Given the description of an element on the screen output the (x, y) to click on. 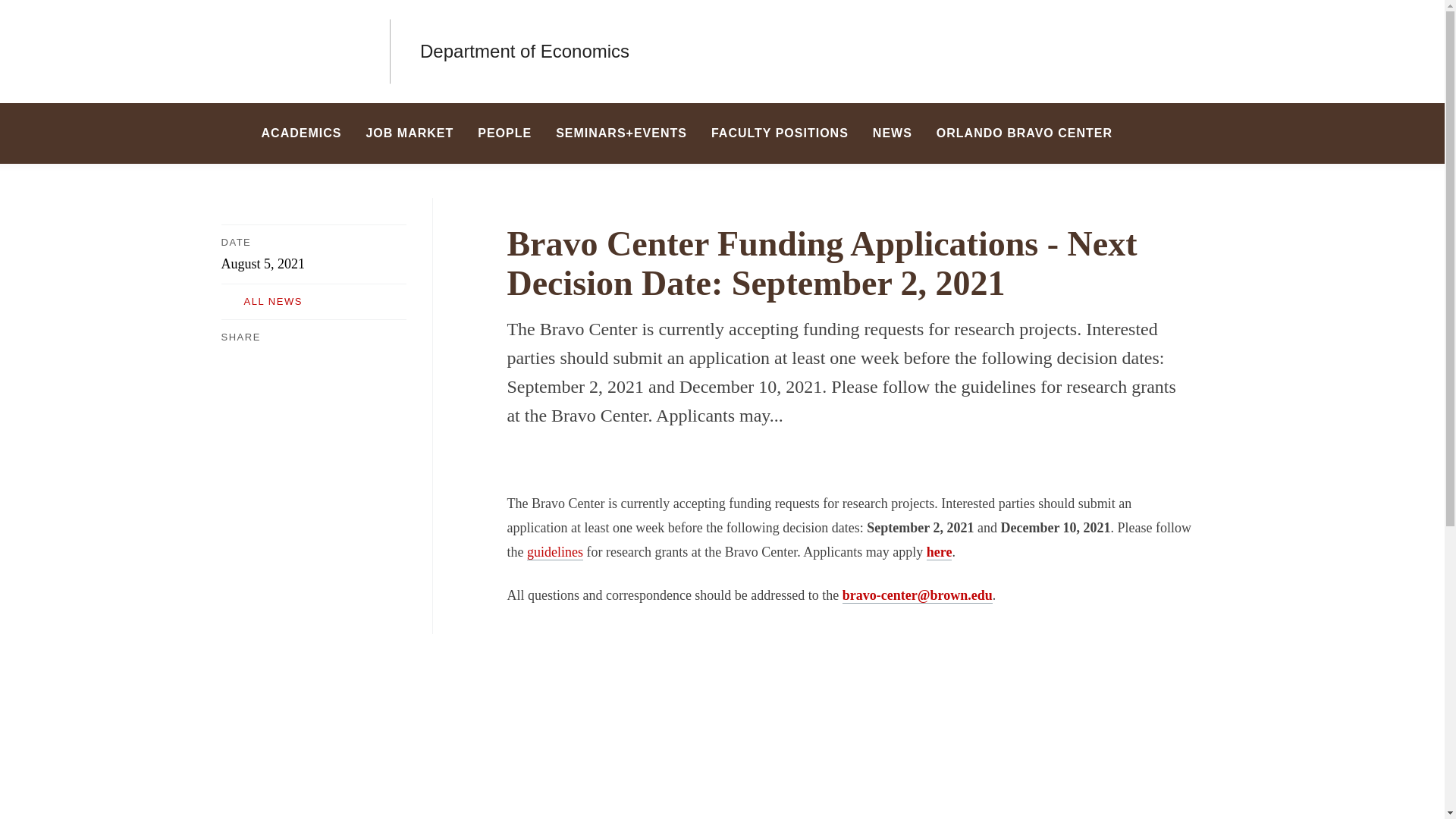
Email (321, 356)
Linkedin (290, 356)
here (939, 552)
guidelines (555, 552)
PEOPLE (504, 133)
ALL NEWS (313, 301)
NEWS (892, 133)
JOB MARKET (409, 133)
Facebook (229, 356)
ORLANDO BRAVO CENTER (1024, 133)
Brown University (290, 51)
Search (1207, 132)
Department of Economics (524, 50)
FACULTY POSITIONS (779, 133)
ACADEMICS (301, 133)
